Given the description of an element on the screen output the (x, y) to click on. 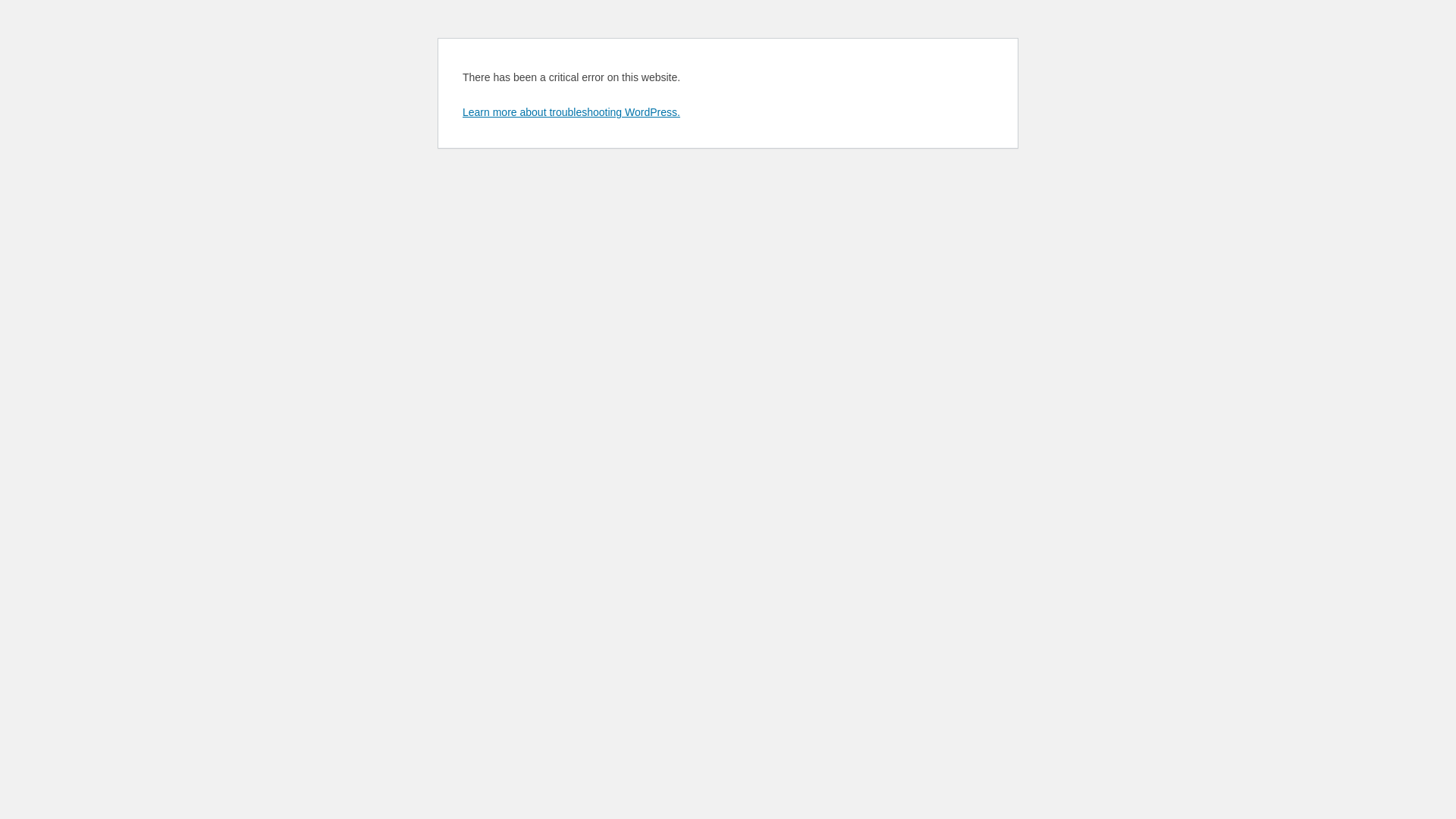
Learn more about troubleshooting WordPress. Element type: text (571, 112)
